Given the description of an element on the screen output the (x, y) to click on. 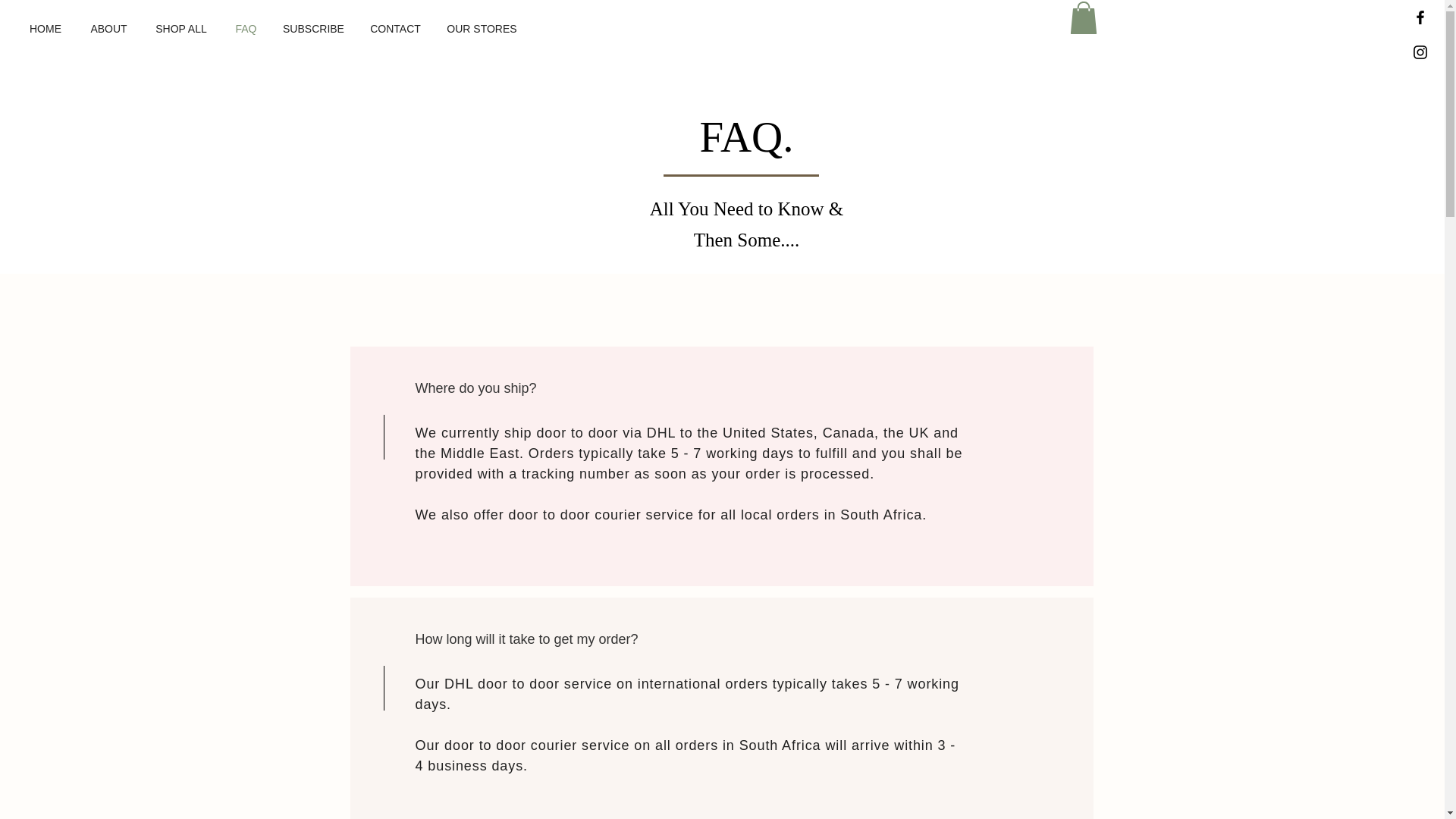
ABOUT (108, 28)
CONTACT (395, 28)
SUBSCRIBE (312, 28)
SHOP ALL (181, 28)
FAQ (245, 28)
OUR STORES (481, 28)
HOME (44, 28)
